Given the description of an element on the screen output the (x, y) to click on. 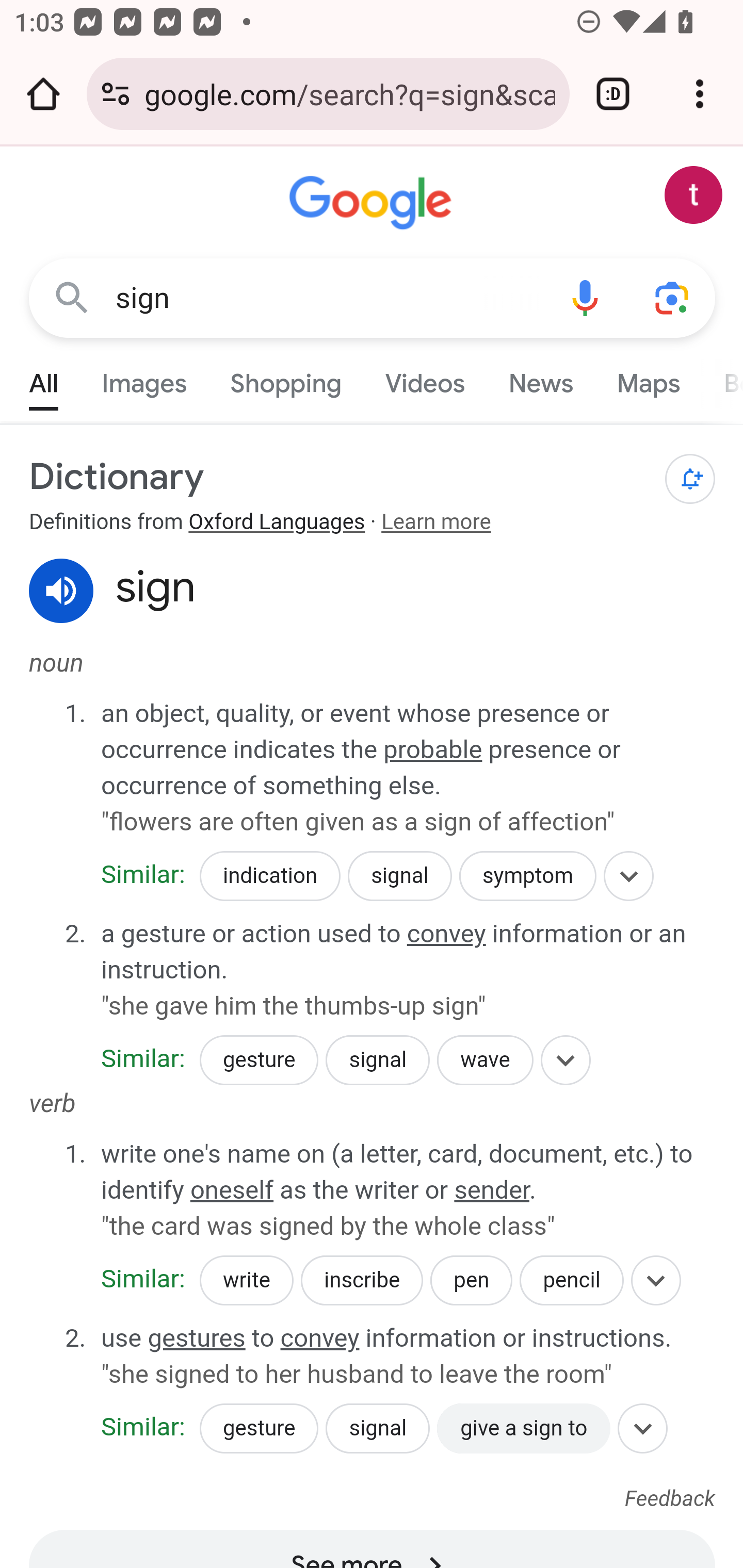
Open the home page (43, 93)
Connection is secure (115, 93)
Switch or close tabs (612, 93)
Customize and control Google Chrome (699, 93)
Google (372, 203)
Google Search (71, 296)
Search using your camera or photos (672, 296)
sign (328, 297)
Images (144, 378)
Shopping (285, 378)
Videos (424, 378)
News (540, 378)
Maps (647, 378)
Get notifications about Word of the day (690, 478)
Oxford Languages (276, 522)
Learn more (435, 522)
 Listen  (61, 591)
probable (432, 749)
indication (269, 876)
signal (399, 876)
symptom (527, 876)
convey (446, 934)
gesture (258, 1060)
signal (378, 1060)
wave (485, 1060)
oneself (231, 1189)
sender (492, 1189)
write (246, 1280)
inscribe (361, 1280)
pen (470, 1280)
pencil (570, 1280)
threat (153, 1291)
gestures (195, 1338)
convey (320, 1338)
underwrite (176, 1419)
gesture (258, 1428)
signal (378, 1428)
Feedback (669, 1498)
